Given the description of an element on the screen output the (x, y) to click on. 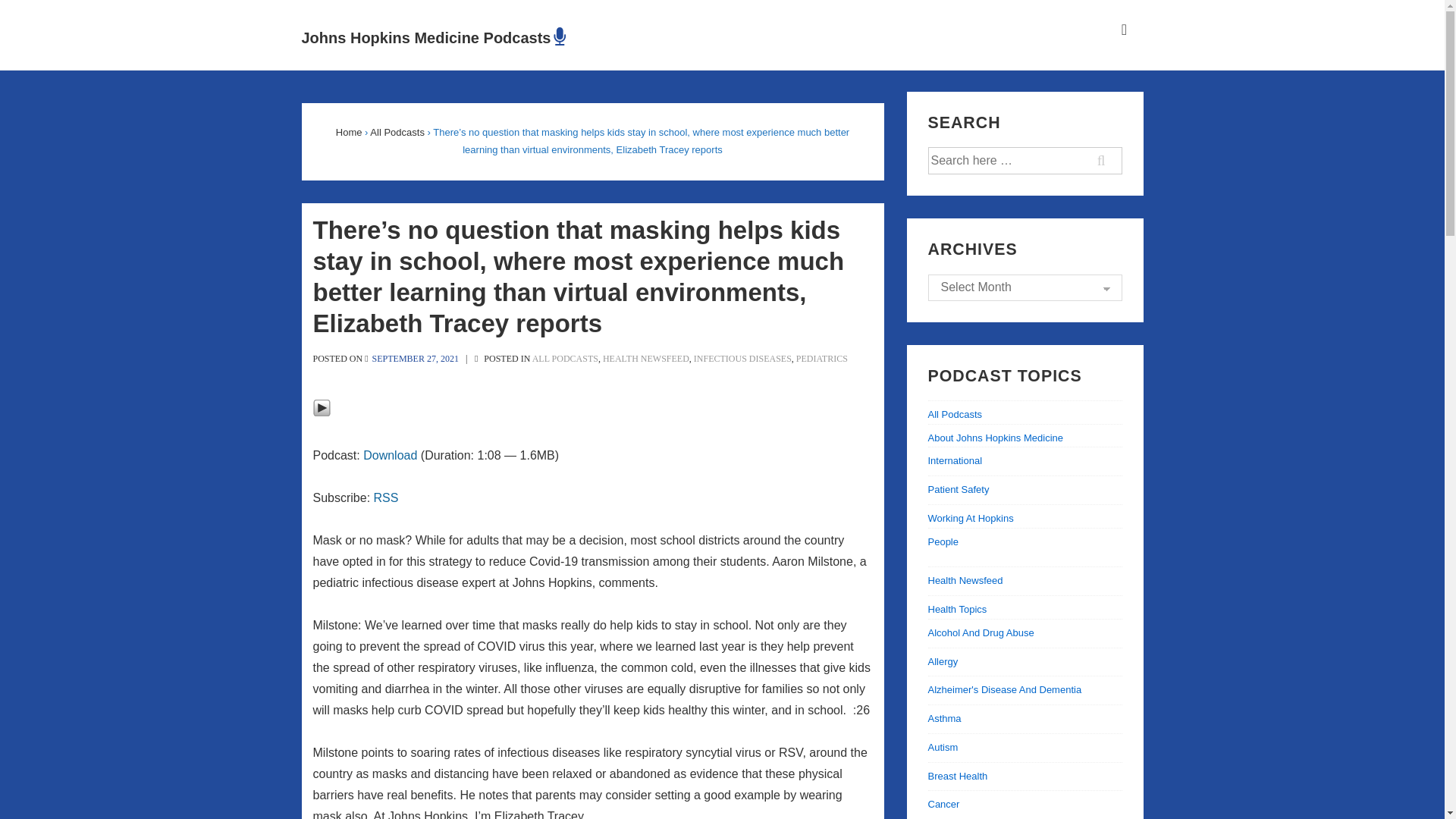
Patient Safety (959, 489)
People (943, 541)
Working At Hopkins (970, 518)
INFECTIOUS DISEASES (743, 357)
Allergy (943, 661)
ALL PODCASTS (565, 357)
MENU (1123, 29)
About Johns Hopkins Medicine (996, 437)
Play (321, 407)
Download (389, 454)
